Given the description of an element on the screen output the (x, y) to click on. 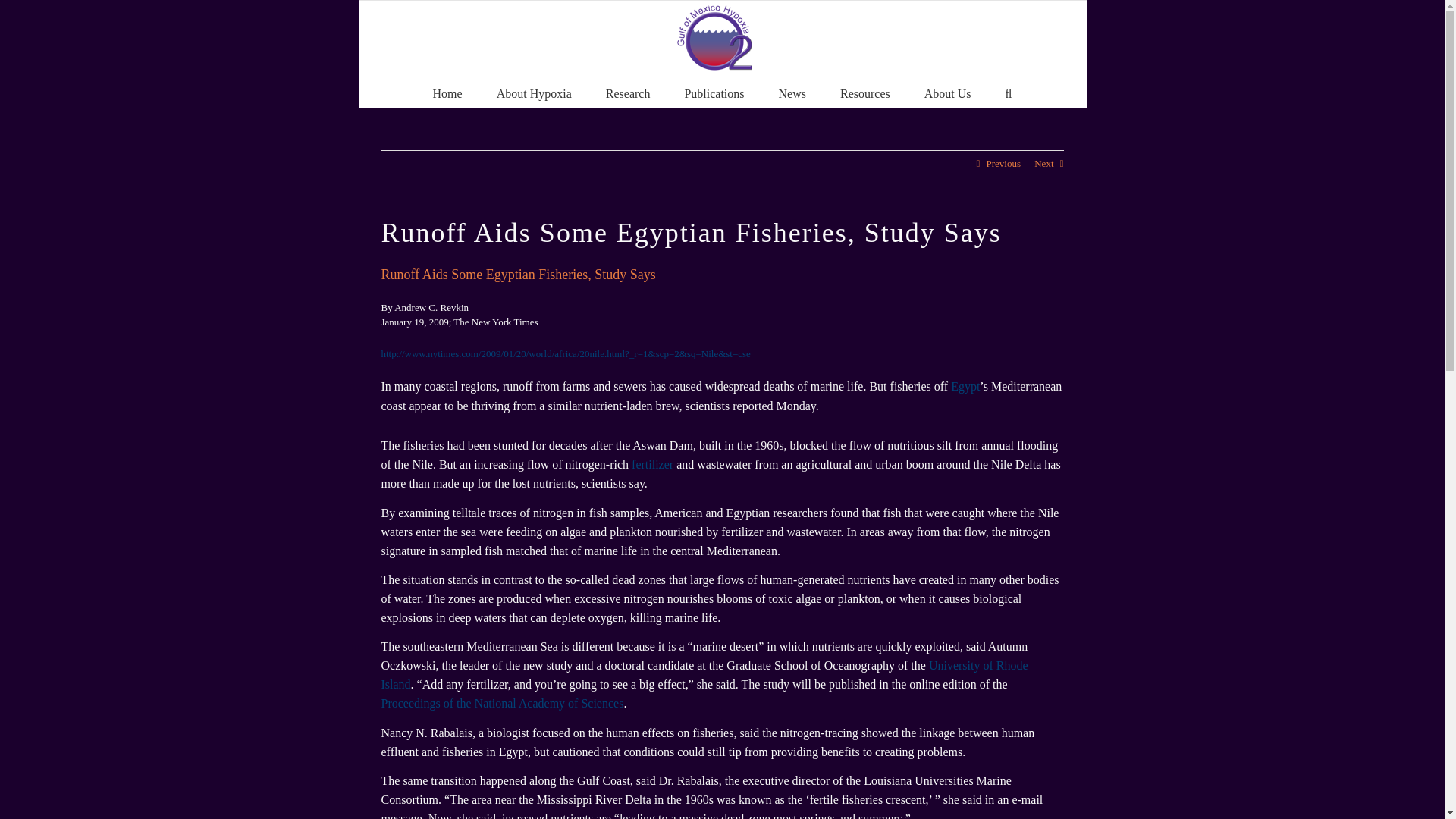
Home (447, 91)
About Hypoxia (534, 91)
Resources (864, 91)
Research (627, 91)
More news and information about Egypt. (964, 385)
About Us (947, 91)
Publications (714, 91)
More articles about fertilizer. (651, 463)
More articles about the University of Rhode Island. (703, 673)
News (792, 91)
